Given the description of an element on the screen output the (x, y) to click on. 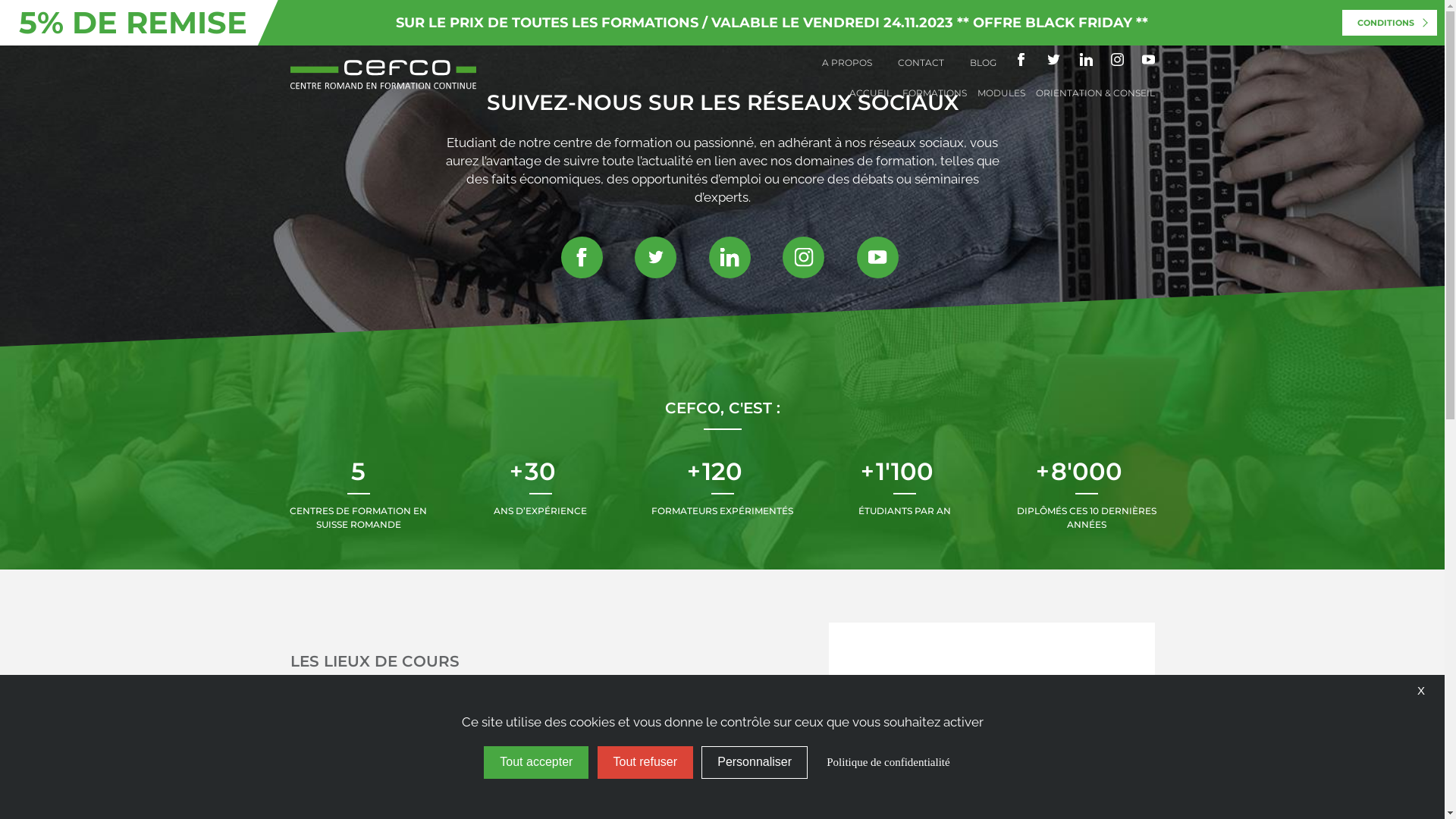
Tout accepter Element type: text (535, 762)
MODULES Element type: text (1000, 92)
Tout refuser Element type: text (645, 762)
ACCUEIL Element type: text (870, 92)
ORIENTATION & CONSEIL Element type: text (1094, 92)
BLOG Element type: text (982, 62)
FORMATIONS Element type: text (934, 92)
Personnaliser Element type: text (754, 762)
Accueil Element type: hover (382, 64)
A PROPOS Element type: text (847, 62)
CONDITIONS Element type: text (1389, 22)
CONTACT Element type: text (920, 62)
